Given the description of an element on the screen output the (x, y) to click on. 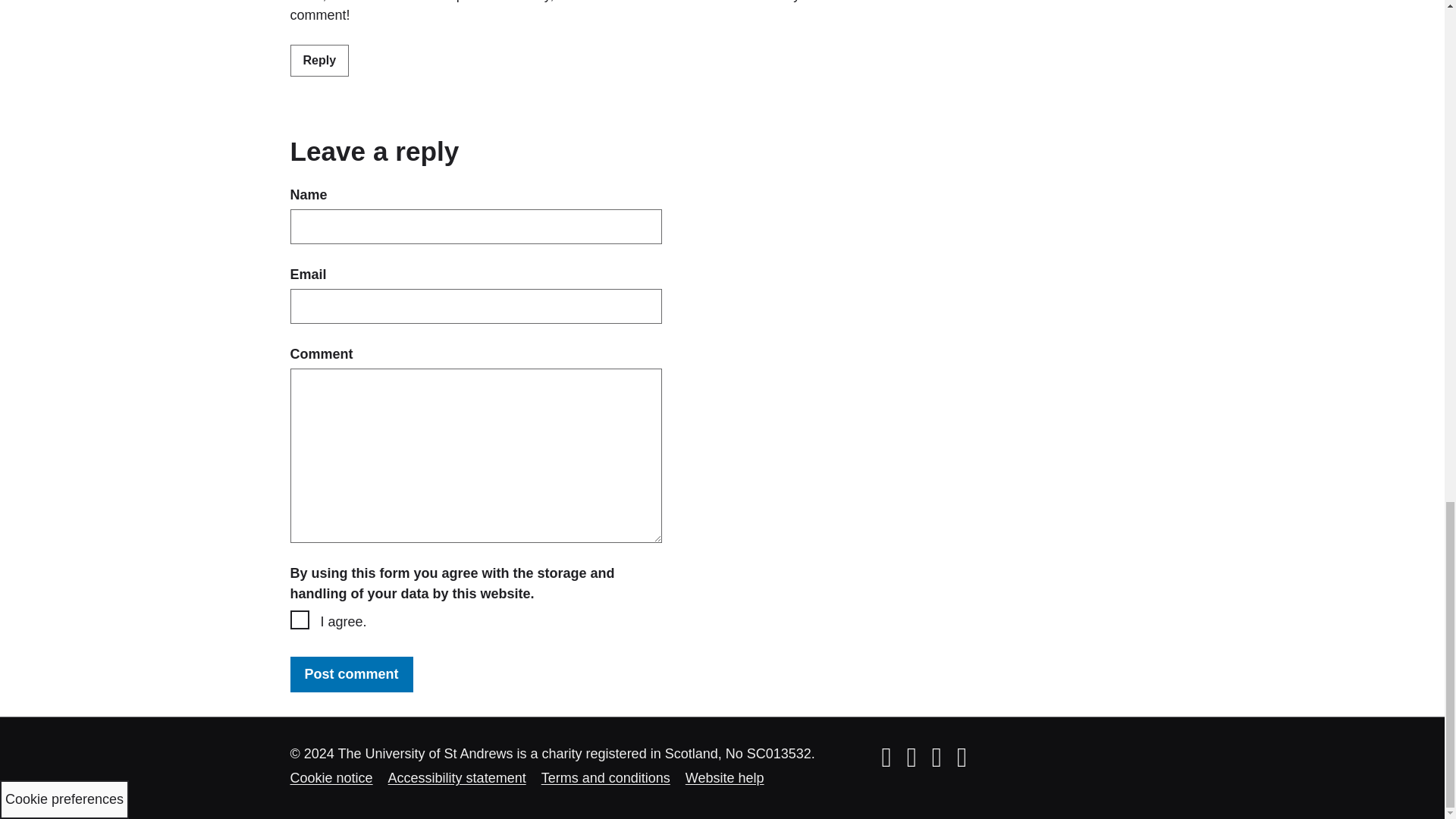
Terms and conditions (605, 777)
Post comment (350, 674)
Reply (319, 60)
Website help (724, 777)
Cookie notice (330, 777)
Accessibility statement (456, 777)
